Given the description of an element on the screen output the (x, y) to click on. 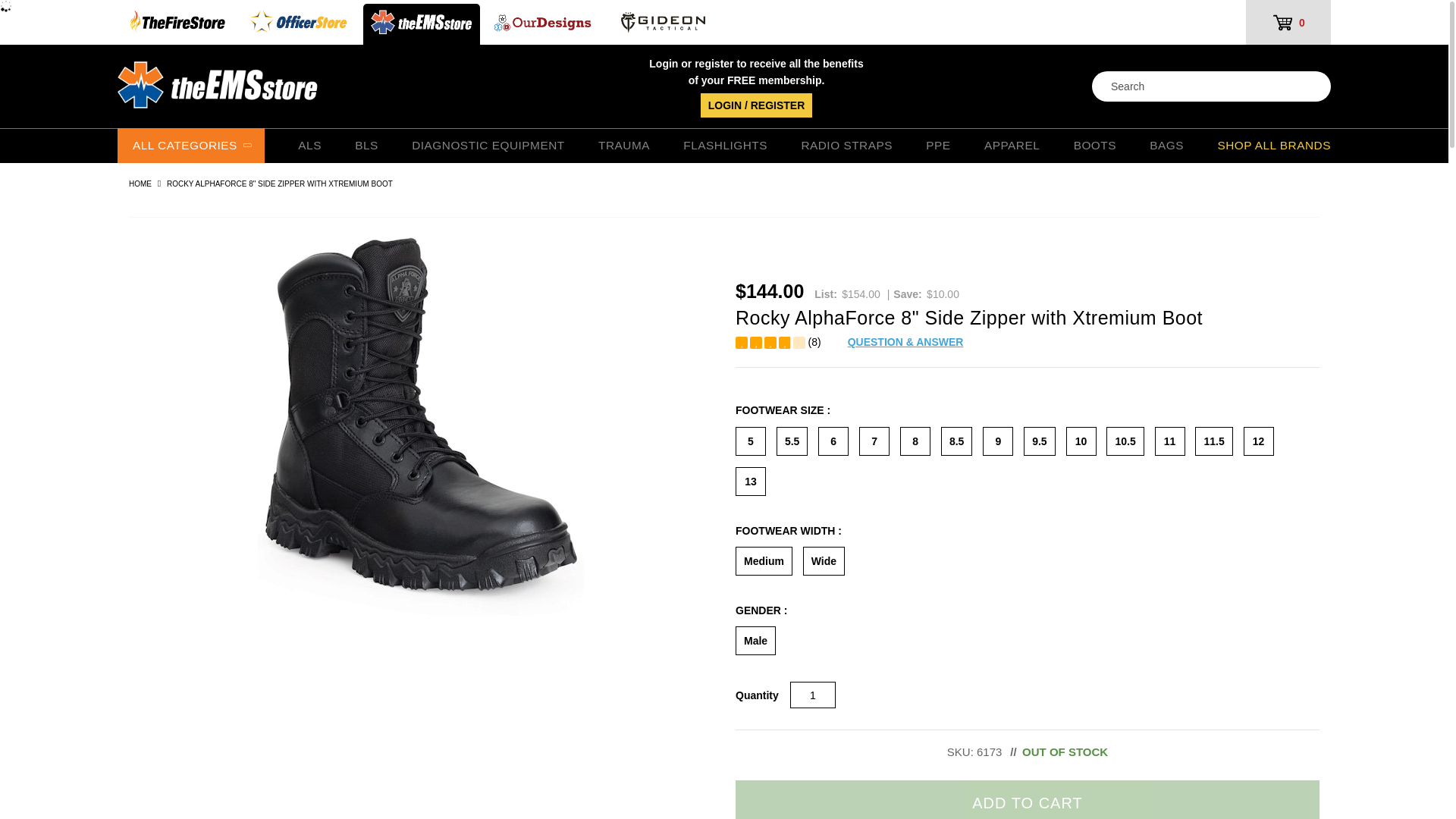
ALL CATEGORIES (190, 144)
ALS (309, 146)
OurDesigns (542, 24)
TheEMSStore (421, 24)
0 (1287, 22)
BAGS (1166, 146)
APPAREL (1011, 146)
FLASHLIGHTS (724, 146)
1 (812, 694)
Cart (1287, 22)
